Given the description of an element on the screen output the (x, y) to click on. 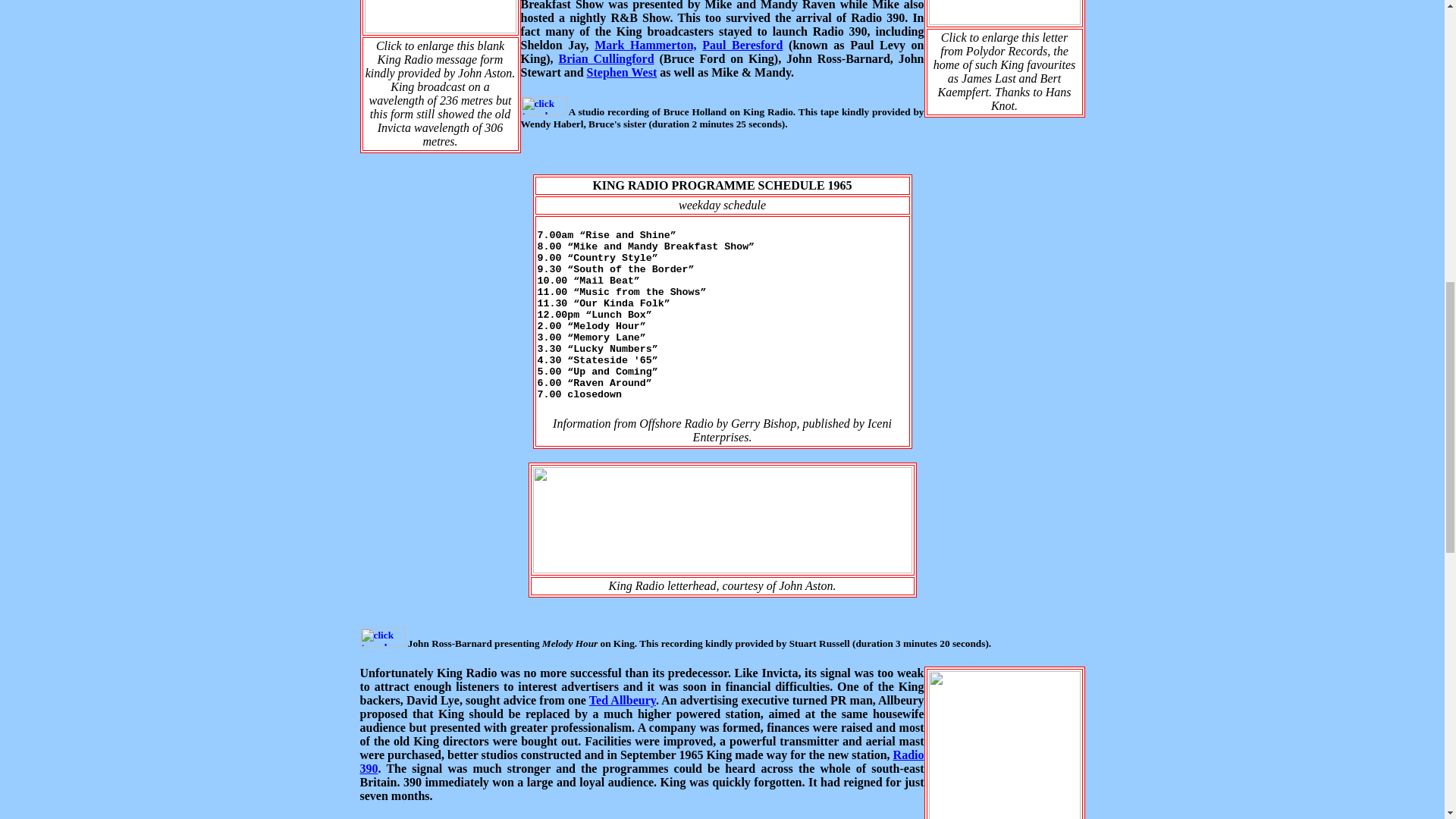
Radio 390 (641, 761)
Stephen West (622, 72)
Ted Allbeury (622, 699)
Mark Hammerton, (644, 44)
Brian Cullingford (606, 58)
Paul Beresford (742, 44)
